Given the description of an element on the screen output the (x, y) to click on. 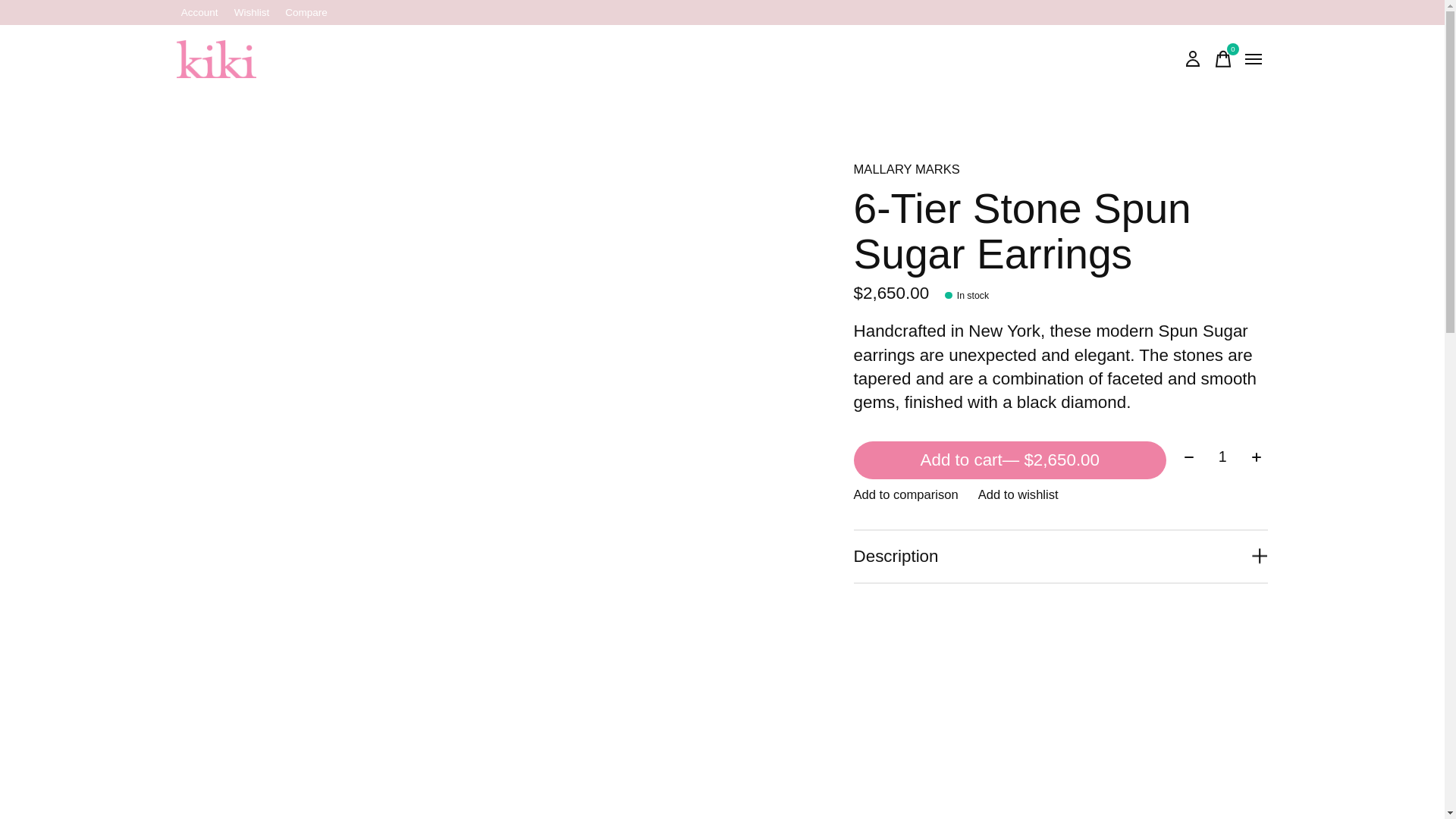
Account (199, 11)
product.brand.title (1060, 169)
1 (1222, 456)
Compare (1222, 59)
Wishlist (306, 11)
